Given the description of an element on the screen output the (x, y) to click on. 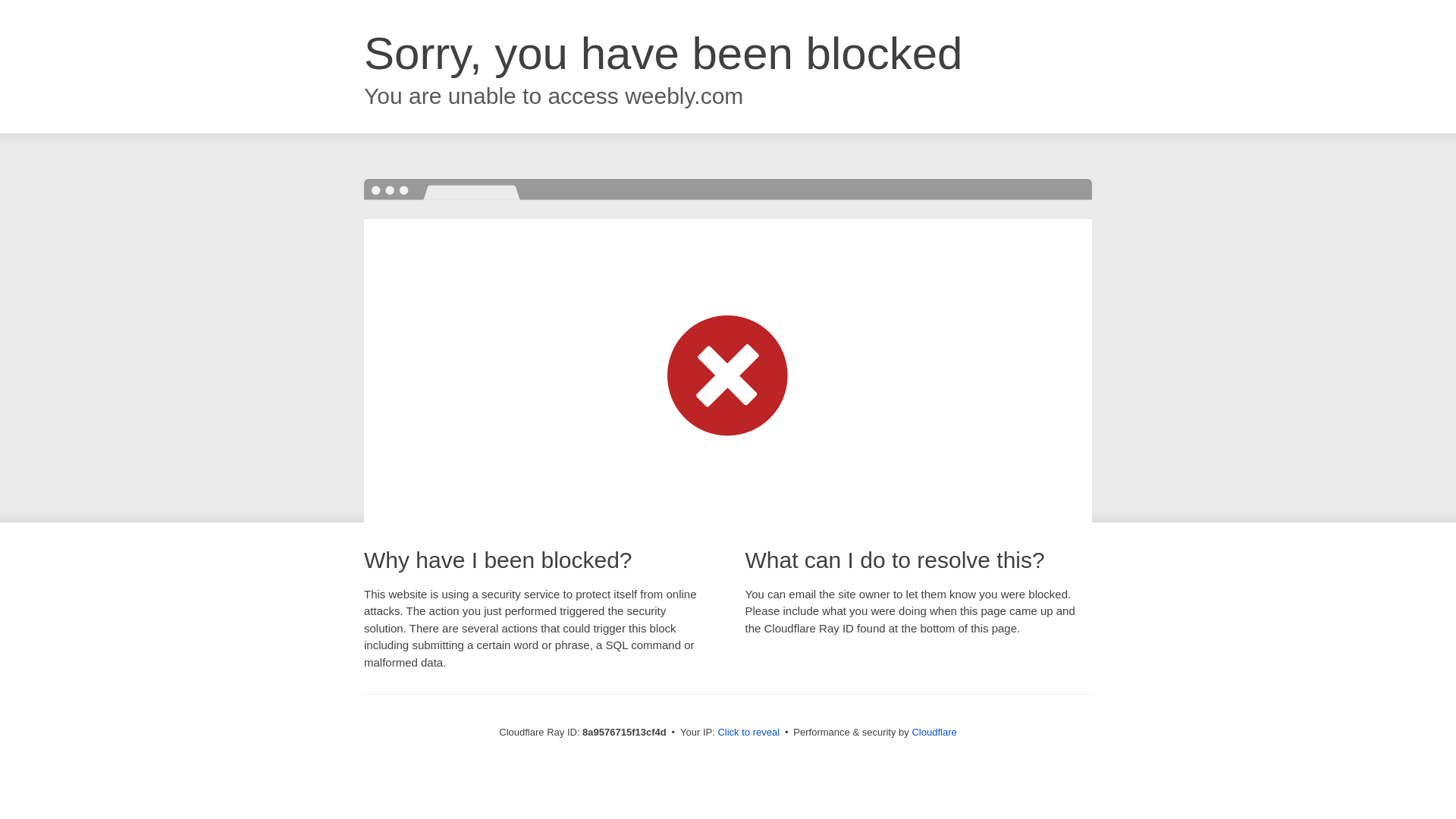
Cloudflare (933, 731)
Click to reveal (747, 732)
